Given the description of an element on the screen output the (x, y) to click on. 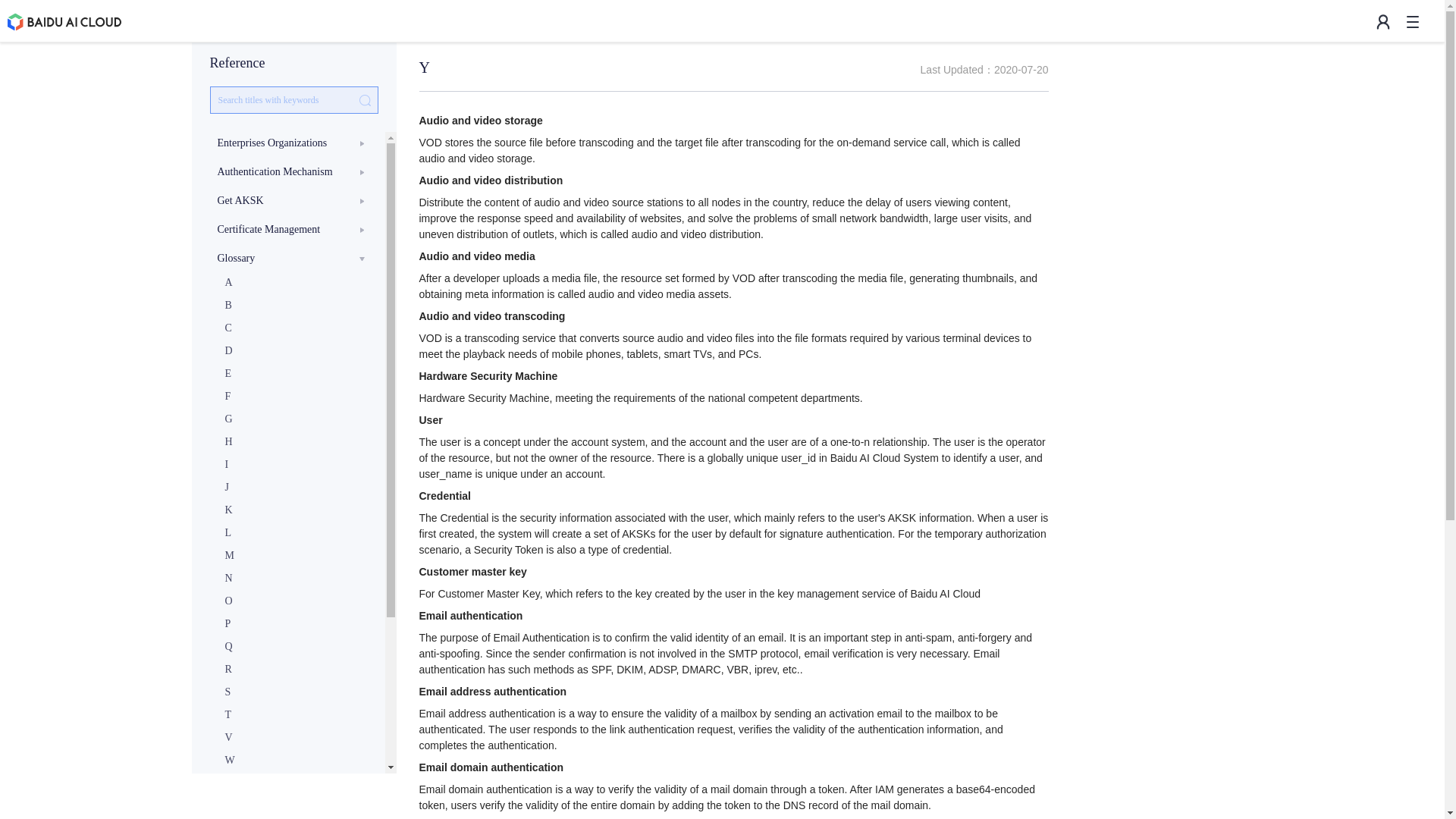
Search titles with keywords (293, 99)
